Given the description of an element on the screen output the (x, y) to click on. 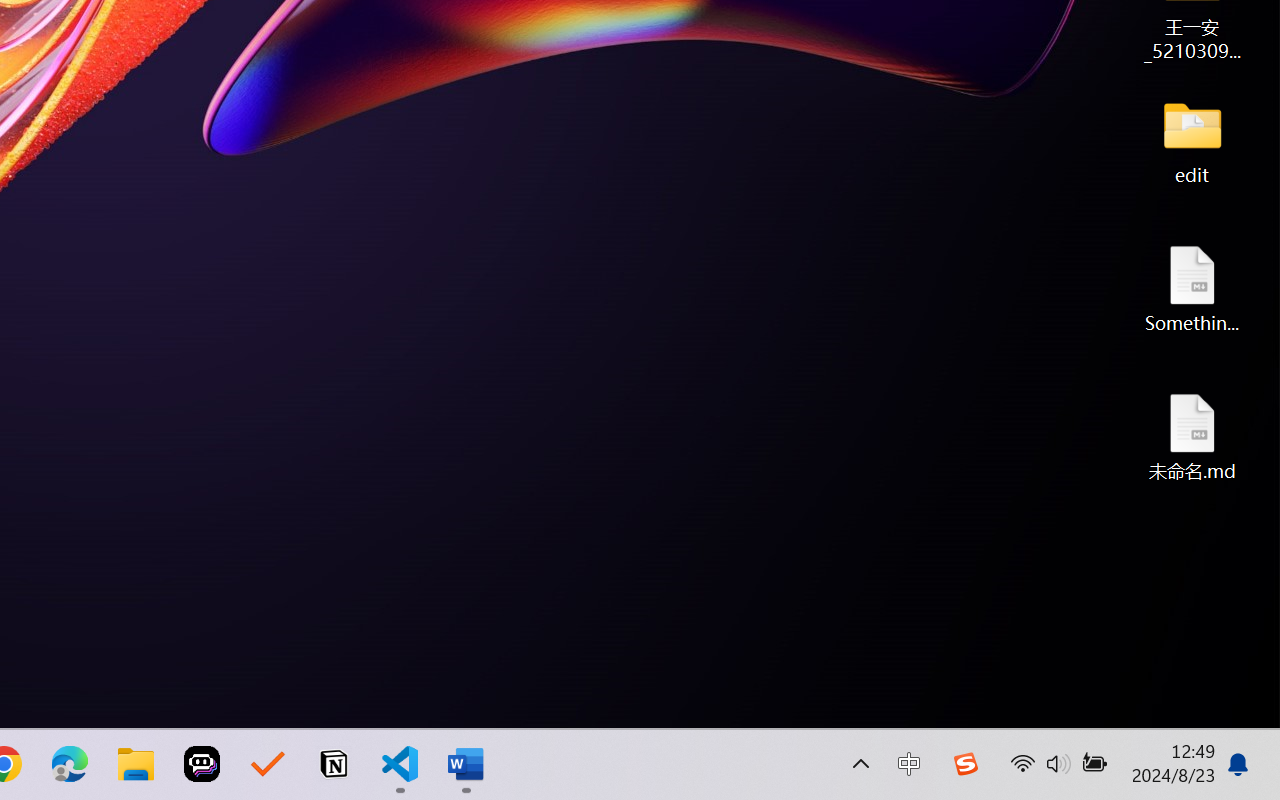
Something.md (1192, 288)
Microsoft Edge (69, 764)
